Given the description of an element on the screen output the (x, y) to click on. 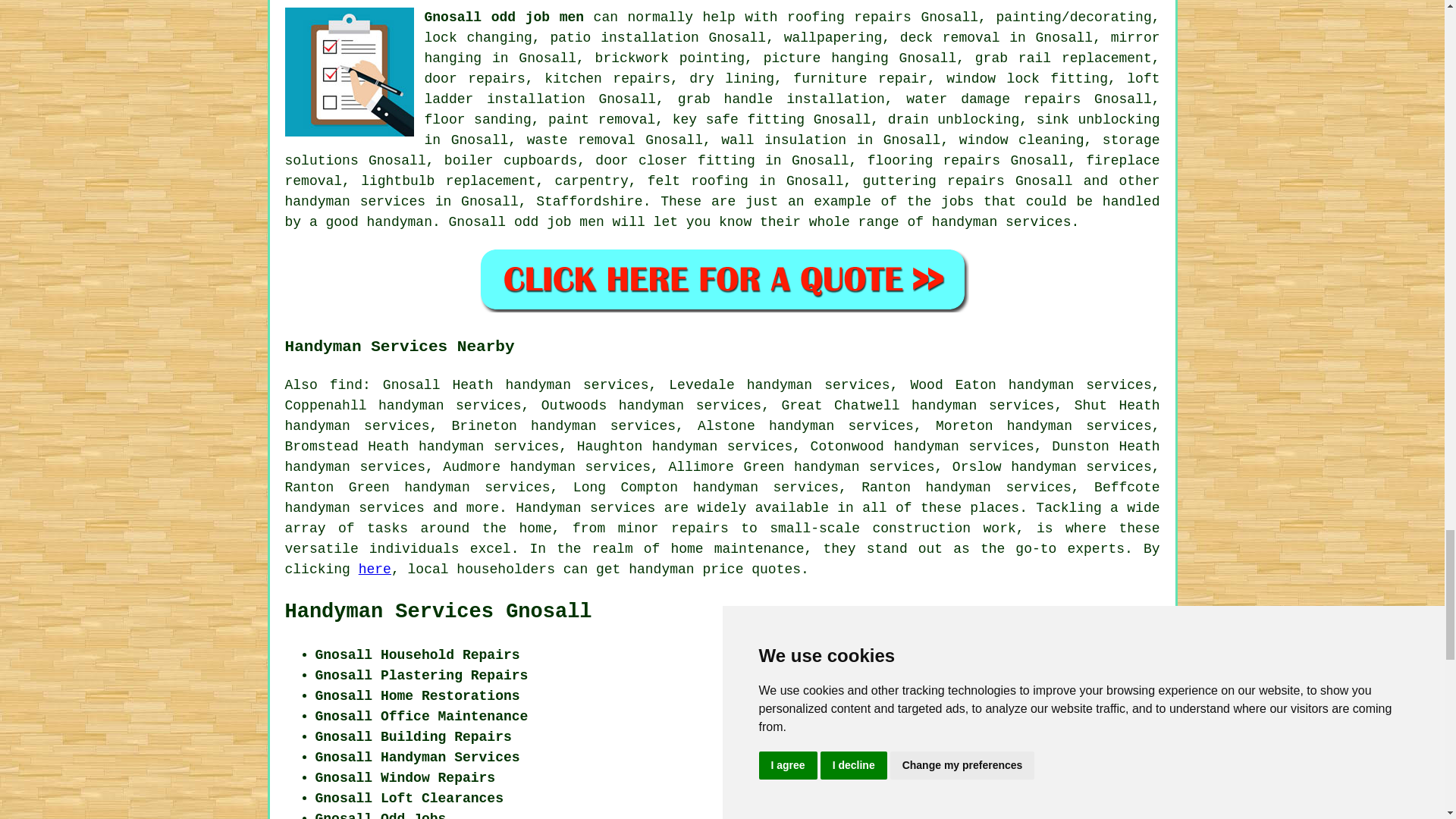
Handyman Tasks Gnosall (349, 71)
Contact a Handyman in Gnosall (1046, 753)
maintenance (759, 548)
handyman (661, 569)
Handyman services (585, 507)
